Given the description of an element on the screen output the (x, y) to click on. 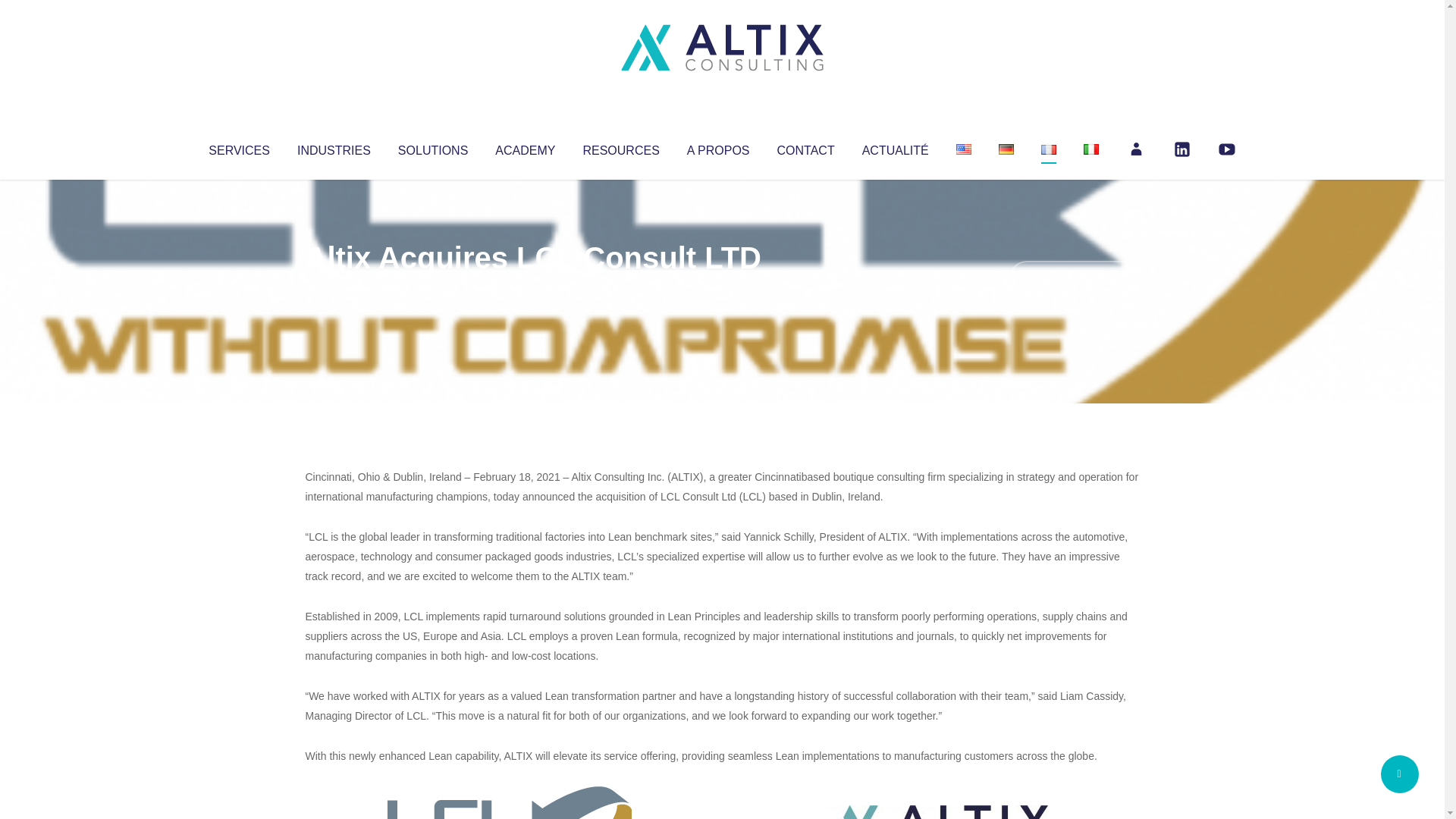
ACADEMY (524, 146)
SOLUTIONS (432, 146)
Articles par Altix (333, 287)
INDUSTRIES (334, 146)
A PROPOS (718, 146)
Altix (333, 287)
No Comments (1073, 278)
RESOURCES (620, 146)
SERVICES (238, 146)
Uncategorized (530, 287)
